Given the description of an element on the screen output the (x, y) to click on. 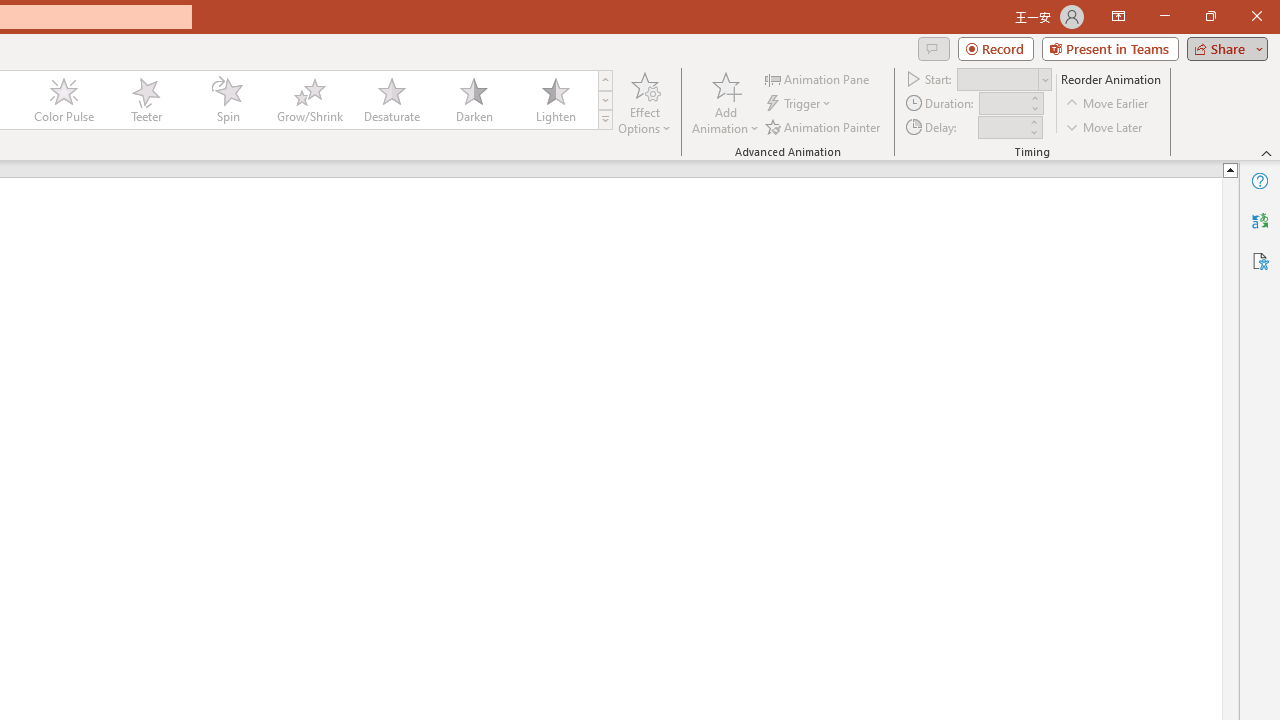
Animation Delay (1002, 127)
Restore Down (1210, 16)
Open (1044, 79)
Accessibility (1260, 260)
Present in Teams (1109, 48)
Trigger (799, 103)
Add Animation (725, 102)
Animation Duration (1003, 103)
